Given the description of an element on the screen output the (x, y) to click on. 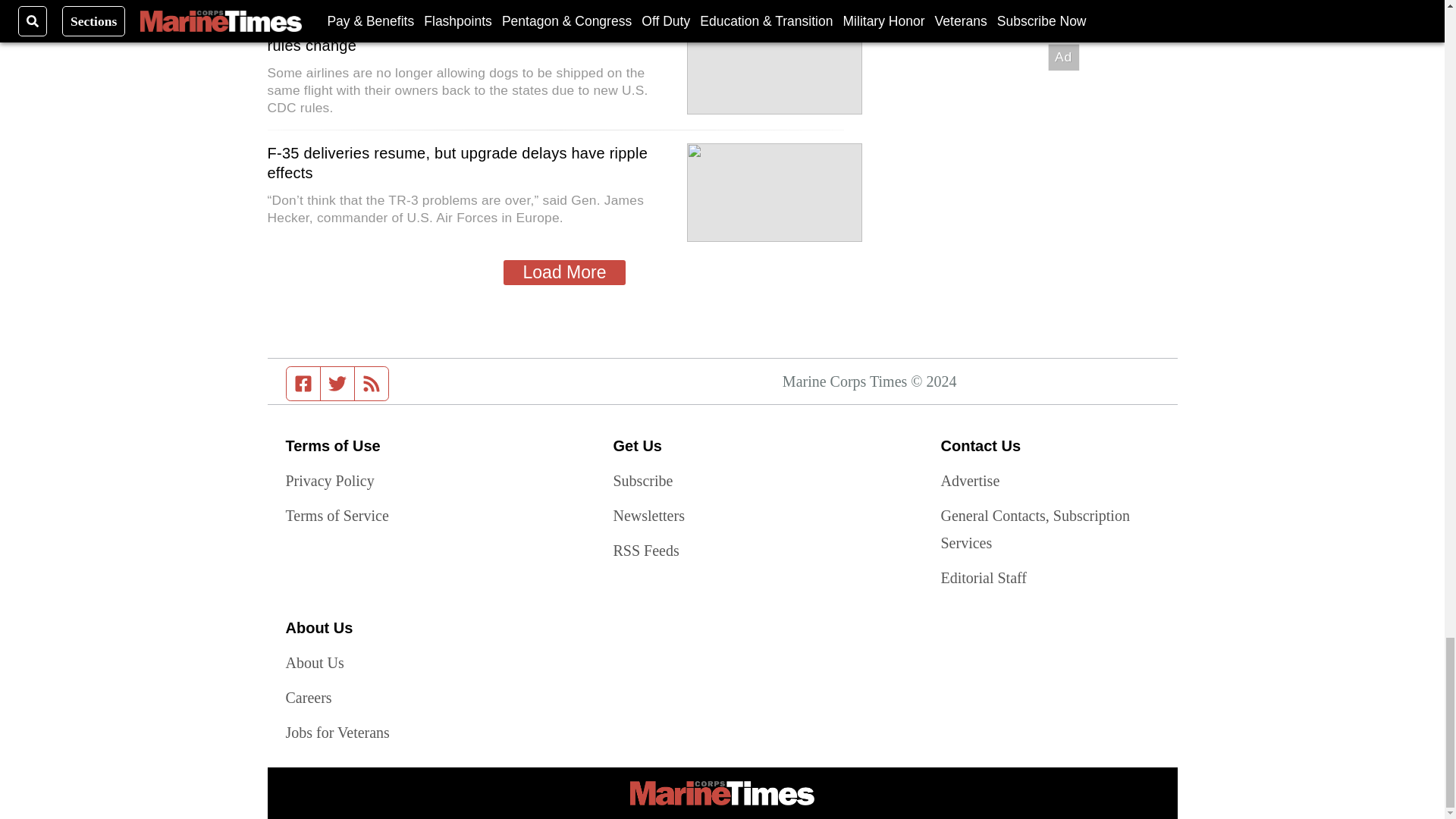
Twitter feed (336, 383)
RSS feed (371, 383)
Facebook page (303, 383)
